Given the description of an element on the screen output the (x, y) to click on. 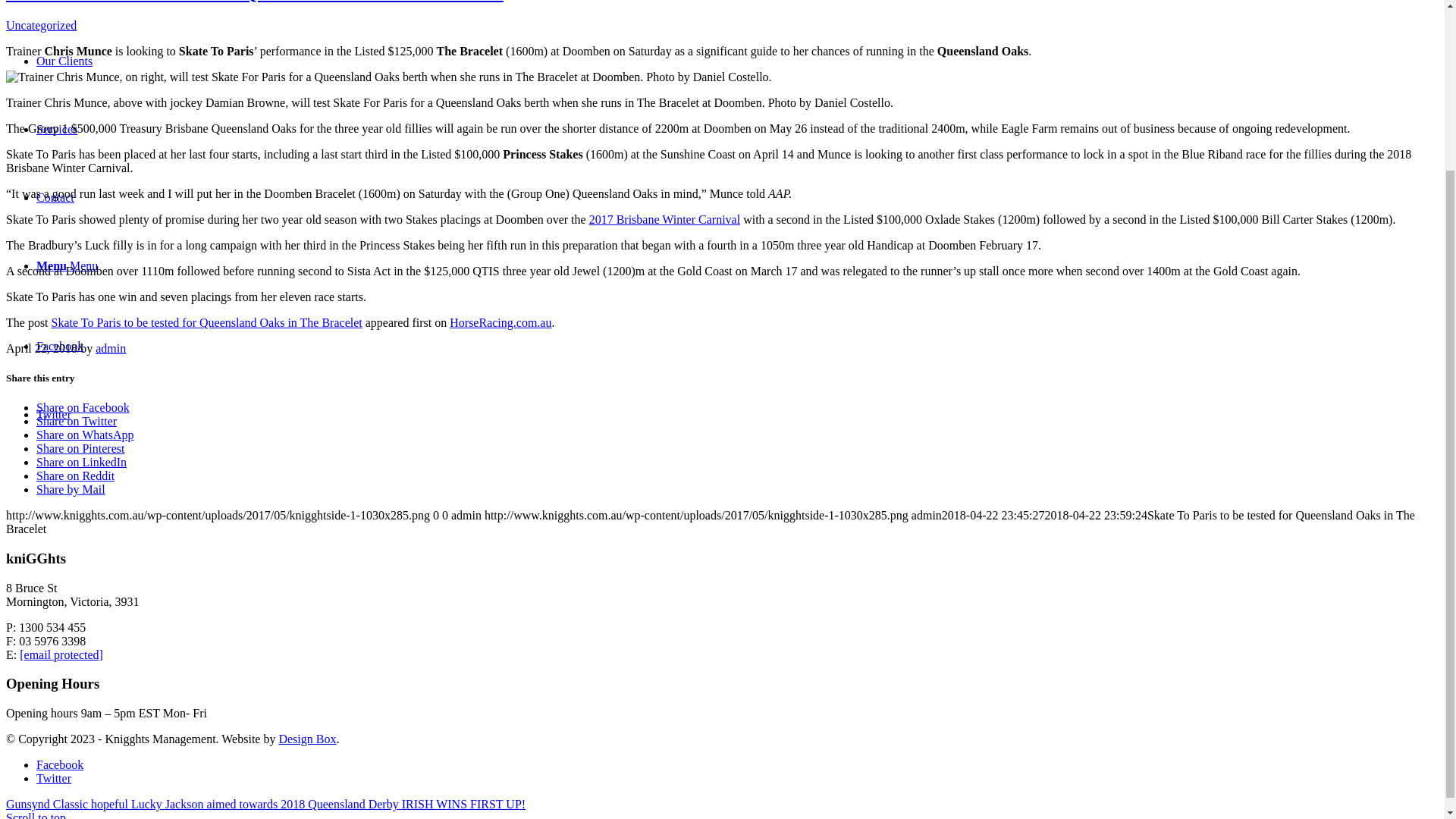
Menu Menu (66, 265)
Services (56, 128)
Share on WhatsApp (84, 434)
admin (110, 348)
Twitter (53, 413)
Twitter (53, 413)
Our Clients (64, 60)
